Given the description of an element on the screen output the (x, y) to click on. 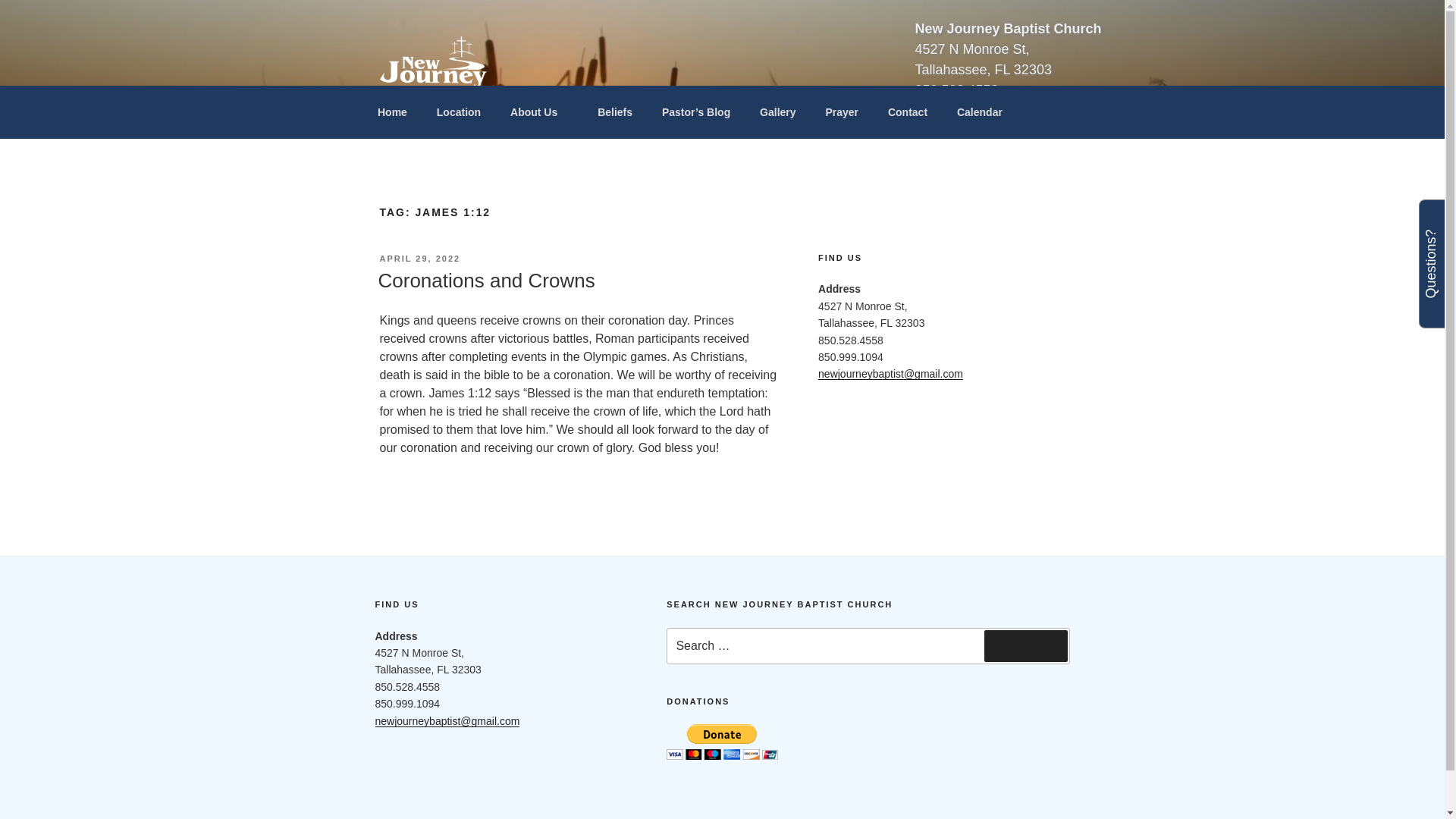
PayPal - The safer, easier way to pay online! (721, 741)
Prayer (842, 112)
Beliefs (615, 112)
About Us (538, 112)
Coronations and Crowns (485, 280)
Facebook (406, 818)
APRIL 29, 2022 (419, 257)
Home (392, 112)
Calendar (978, 112)
Email (474, 818)
Location (458, 112)
Gallery (777, 112)
Search (1025, 645)
New Journey Baptist Church (577, 119)
Contact (907, 112)
